Given the description of an element on the screen output the (x, y) to click on. 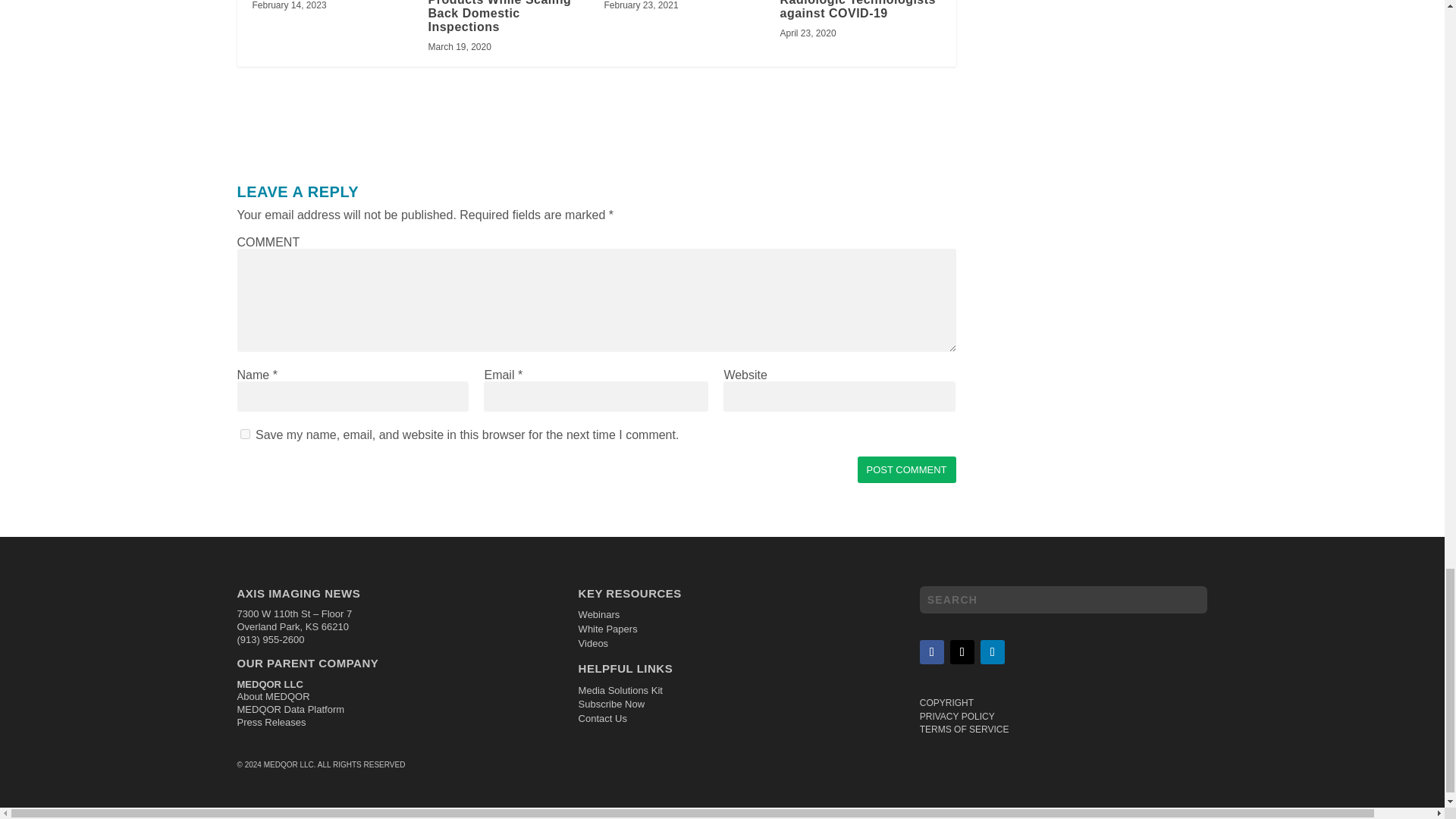
Follow on X (962, 651)
Follow on LinkedIn (991, 651)
yes (244, 433)
Follow on Facebook (931, 651)
Post Comment (906, 469)
